Given the description of an element on the screen output the (x, y) to click on. 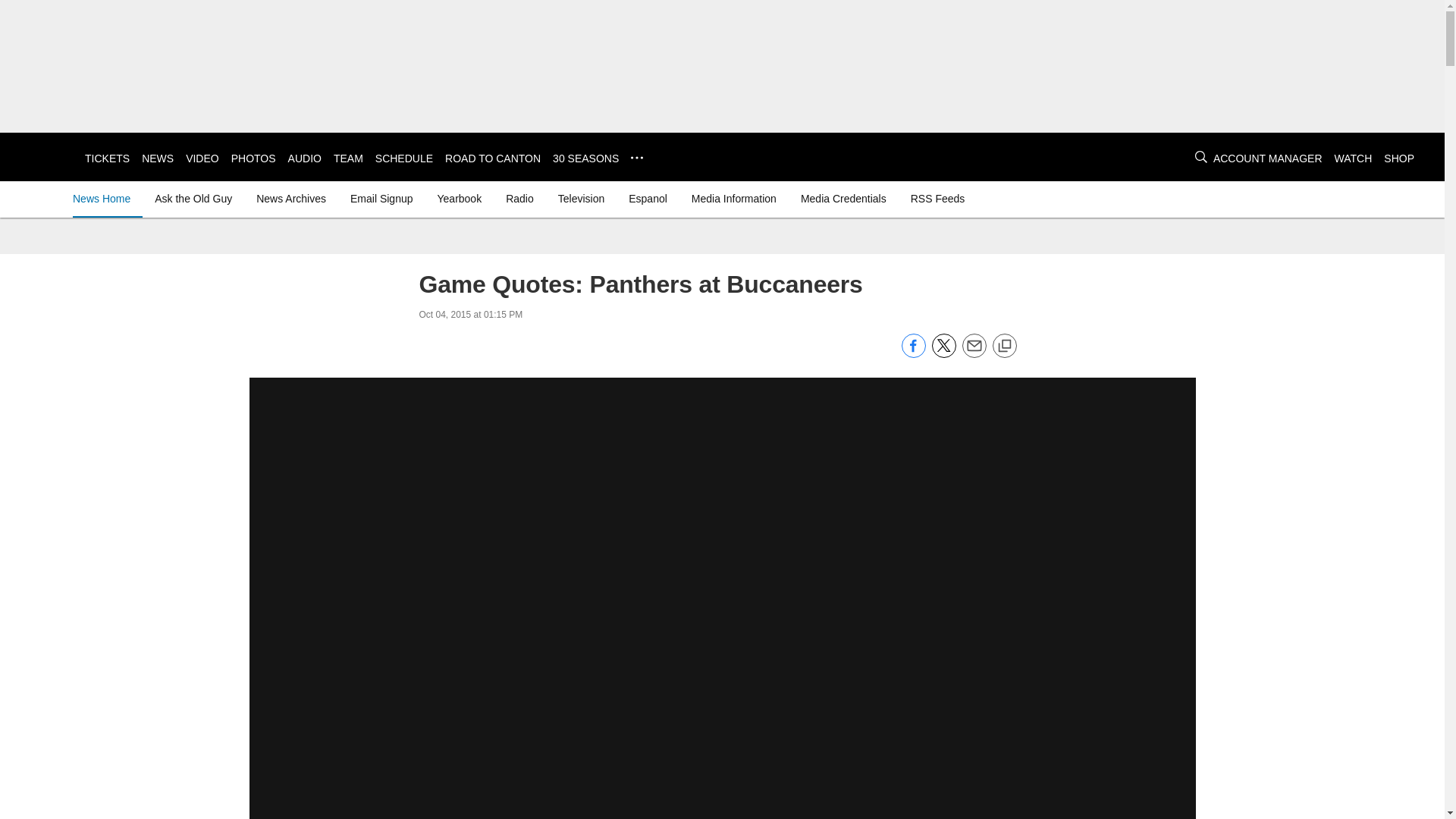
TICKETS (106, 158)
Radio (519, 198)
SCHEDULE (403, 158)
AUDIO (304, 158)
30 SEASONS (585, 158)
WATCH (1354, 158)
TEAM (347, 158)
Espanol (647, 198)
30 SEASONS (585, 158)
Email Signup (381, 198)
